Given the description of an element on the screen output the (x, y) to click on. 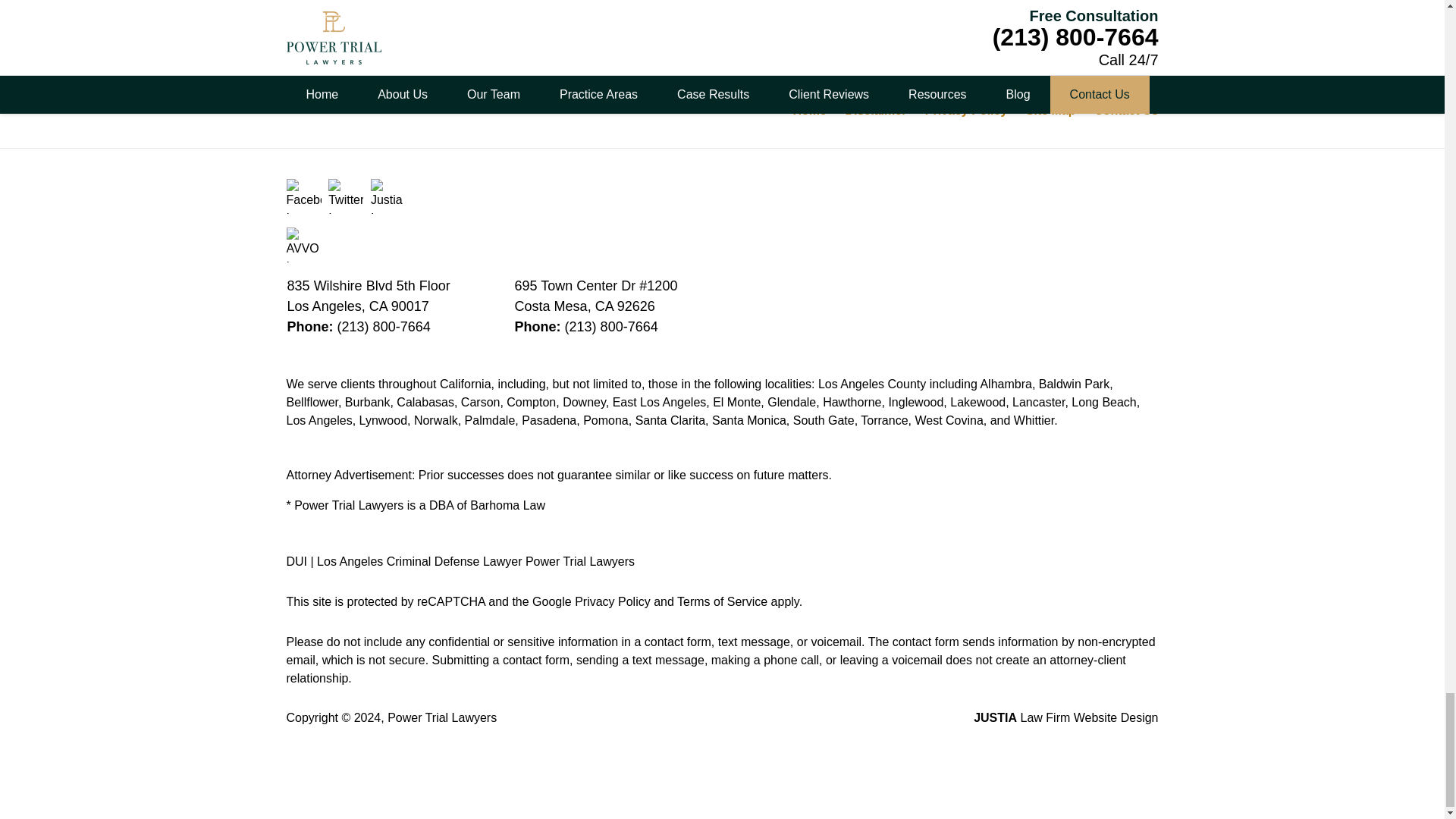
Facebook (303, 196)
AVVO (303, 244)
Justia (388, 196)
Twitter (345, 196)
